Given the description of an element on the screen output the (x, y) to click on. 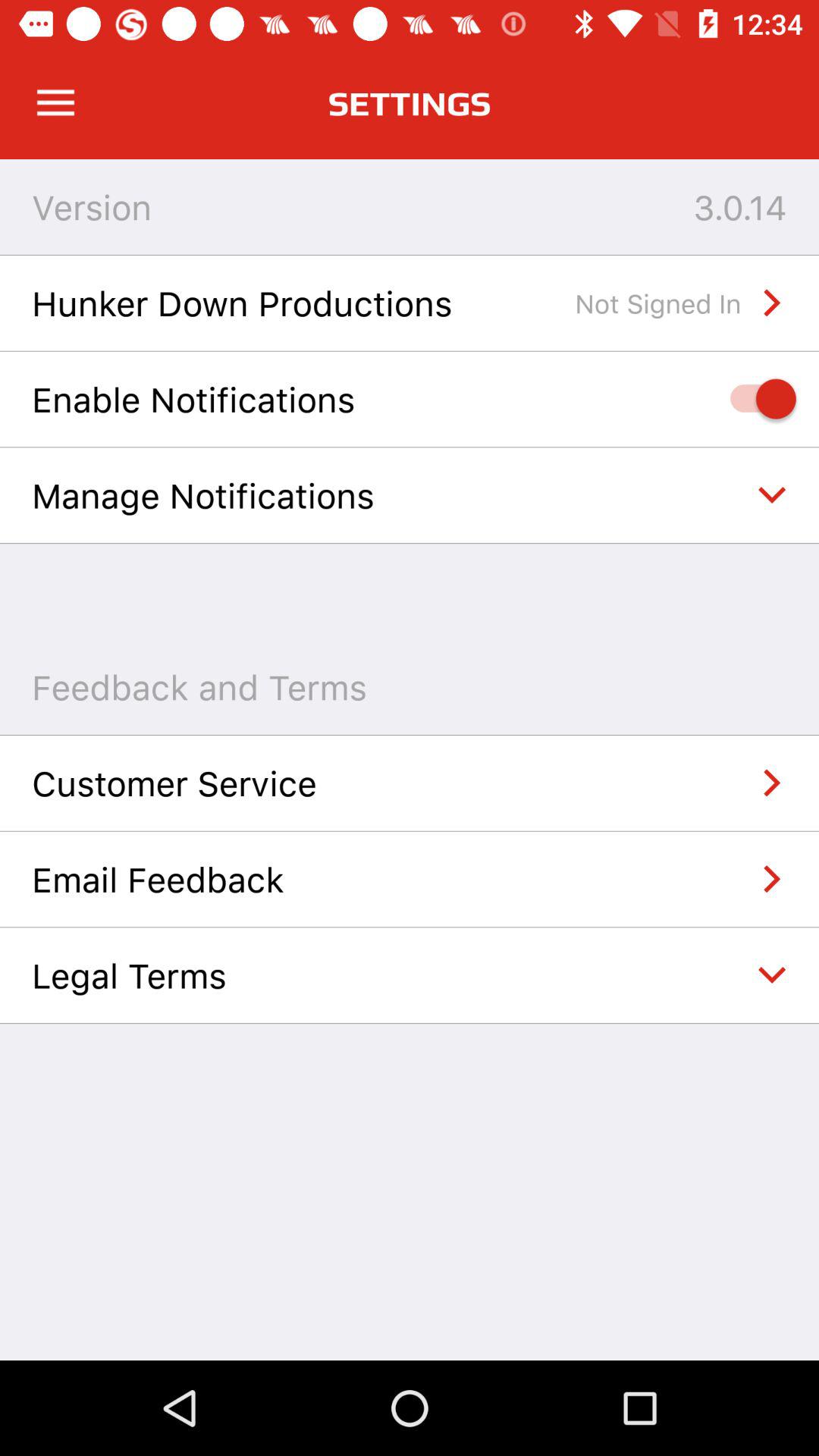
switch enable notification option (755, 398)
